Given the description of an element on the screen output the (x, y) to click on. 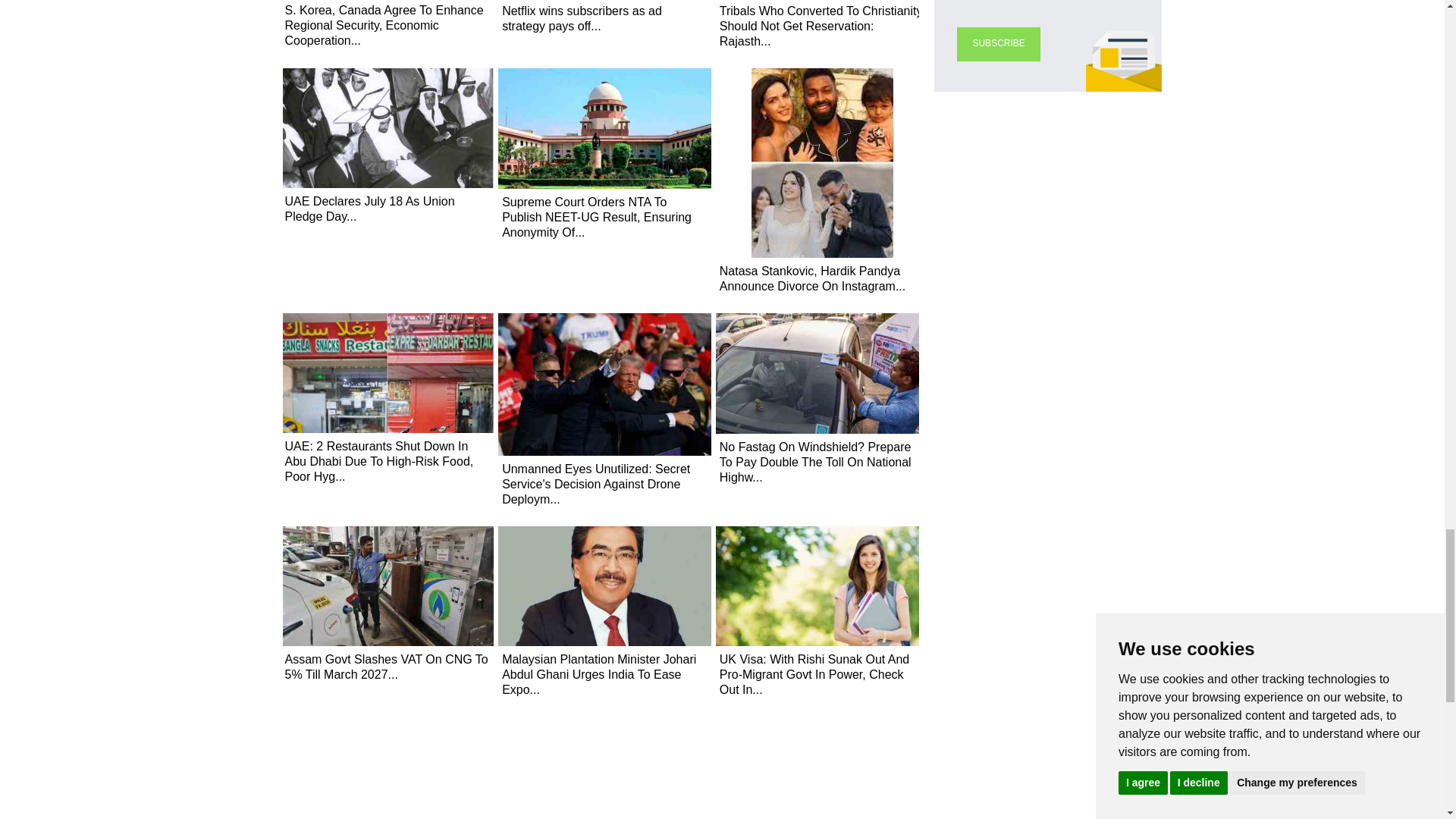
Subscribe (997, 44)
